Given the description of an element on the screen output the (x, y) to click on. 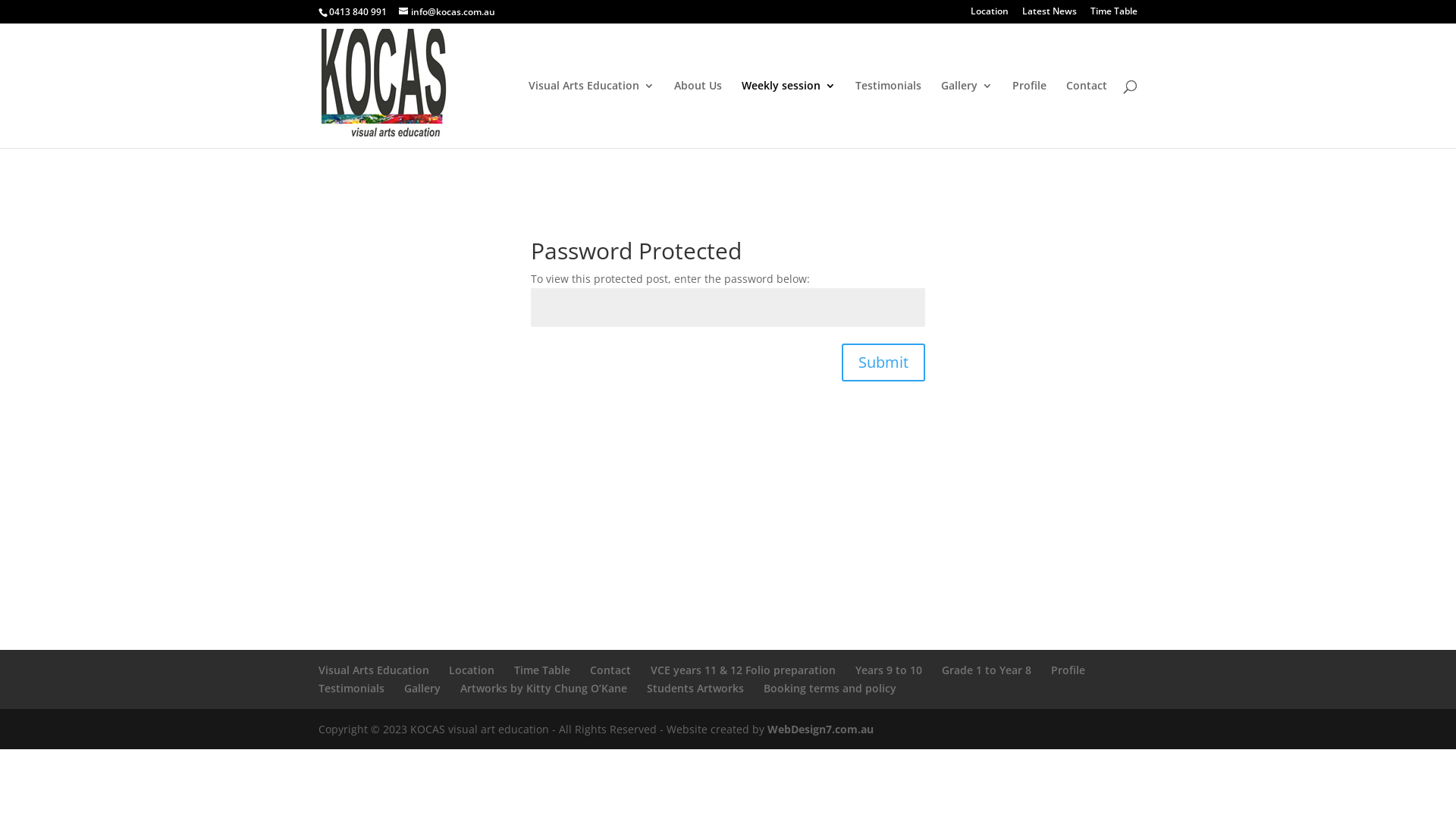
Location Element type: text (471, 669)
Testimonials Element type: text (351, 687)
Time Table Element type: text (1113, 14)
Profile Element type: text (1029, 113)
Location Element type: text (989, 14)
info@kocas.com.au Element type: text (446, 11)
Latest News Element type: text (1049, 14)
Profile Element type: text (1068, 669)
Gallery Element type: text (966, 113)
Booking terms and policy Element type: text (829, 687)
Submit Element type: text (883, 362)
Years 9 to 10 Element type: text (888, 669)
Contact Element type: text (609, 669)
Visual Arts Education Element type: text (591, 113)
WebDesign7.com.au Element type: text (820, 728)
Weekly session Element type: text (788, 113)
Students Artworks Element type: text (694, 687)
Visual Arts Education Element type: text (373, 669)
About Us Element type: text (697, 113)
Time Table Element type: text (542, 669)
VCE years 11 & 12 Folio preparation Element type: text (742, 669)
Testimonials Element type: text (888, 113)
Gallery Element type: text (422, 687)
Contact Element type: text (1086, 113)
Grade 1 to Year 8 Element type: text (986, 669)
